Given the description of an element on the screen output the (x, y) to click on. 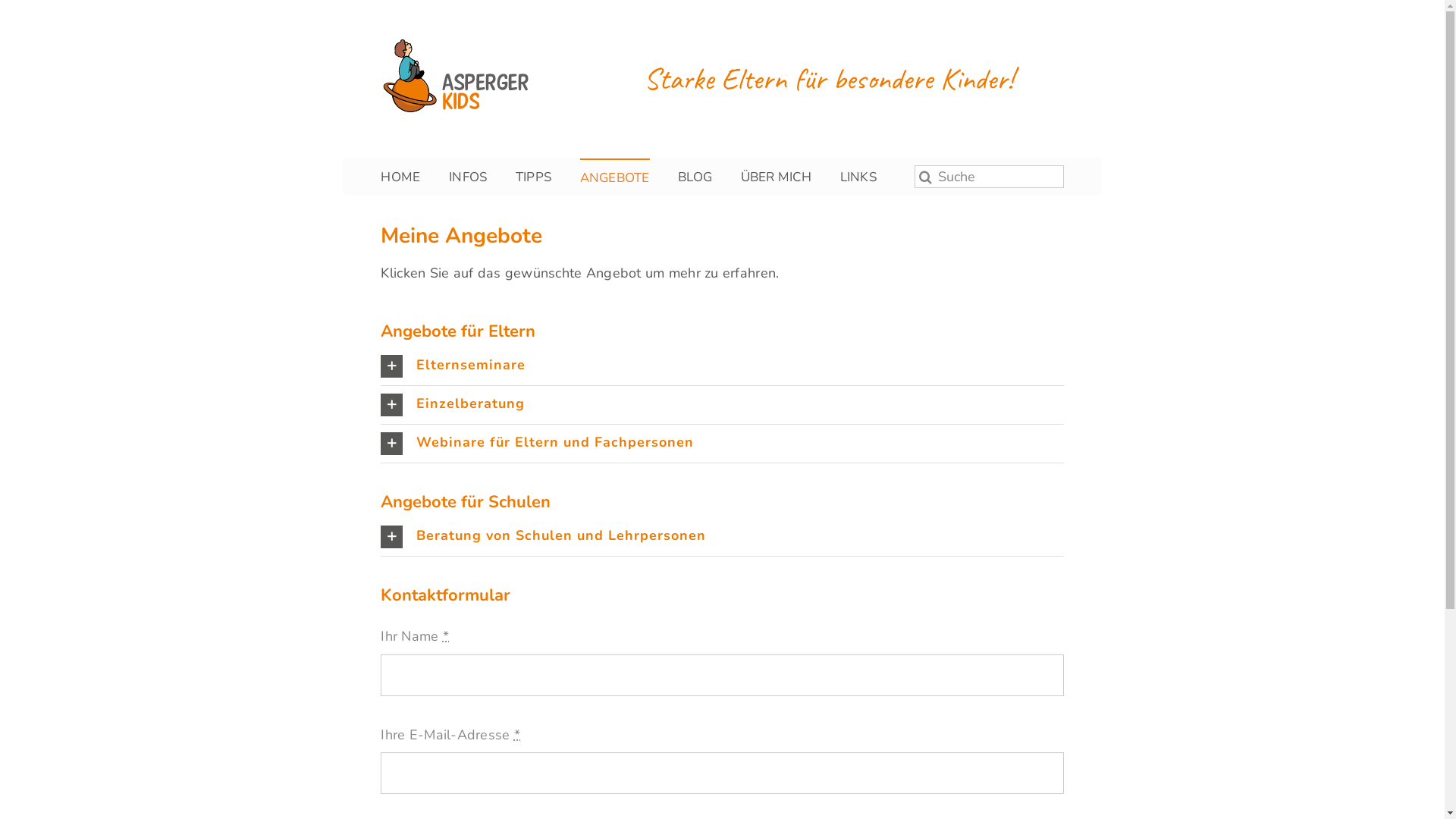
INFOS Element type: text (467, 176)
Logo horizontal Element type: hover (455, 75)
LINKS Element type: text (858, 176)
Einzelberatung Element type: text (721, 404)
Elternseminare Element type: text (721, 366)
TIPPS Element type: text (533, 176)
ANGEBOTE Element type: text (614, 176)
HOME Element type: text (400, 176)
Beratung von Schulen und Lehrpersonen Element type: text (721, 536)
BLOG Element type: text (694, 176)
